Given the description of an element on the screen output the (x, y) to click on. 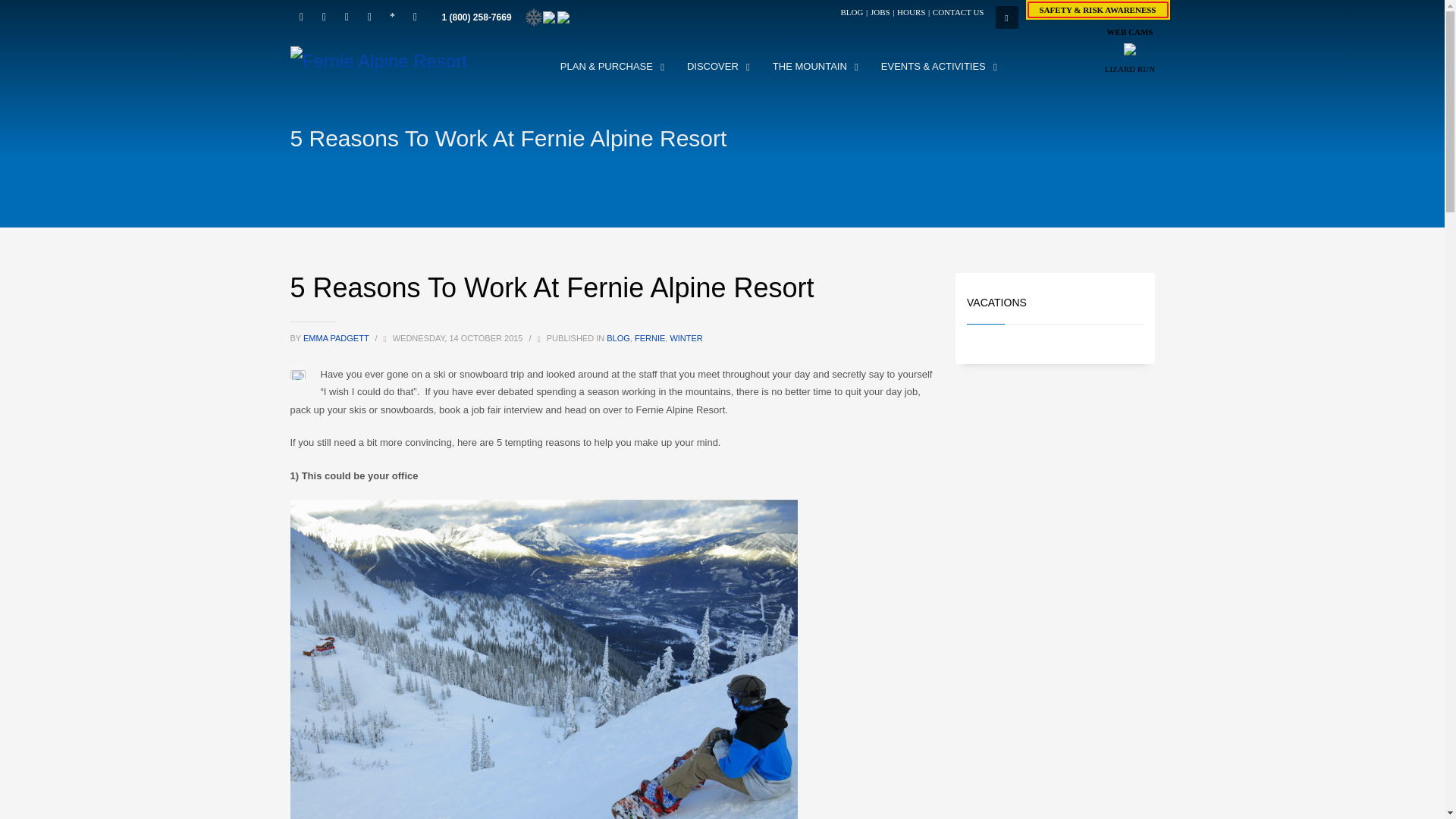
Facebook (301, 16)
YouTube (369, 16)
HOURS (910, 11)
Snow Report (391, 16)
Twitter (346, 16)
Instagram (323, 16)
Summer Web Site (563, 16)
BLOG (852, 11)
JOBS (879, 11)
Winter Web Site (533, 16)
